Given the description of an element on the screen output the (x, y) to click on. 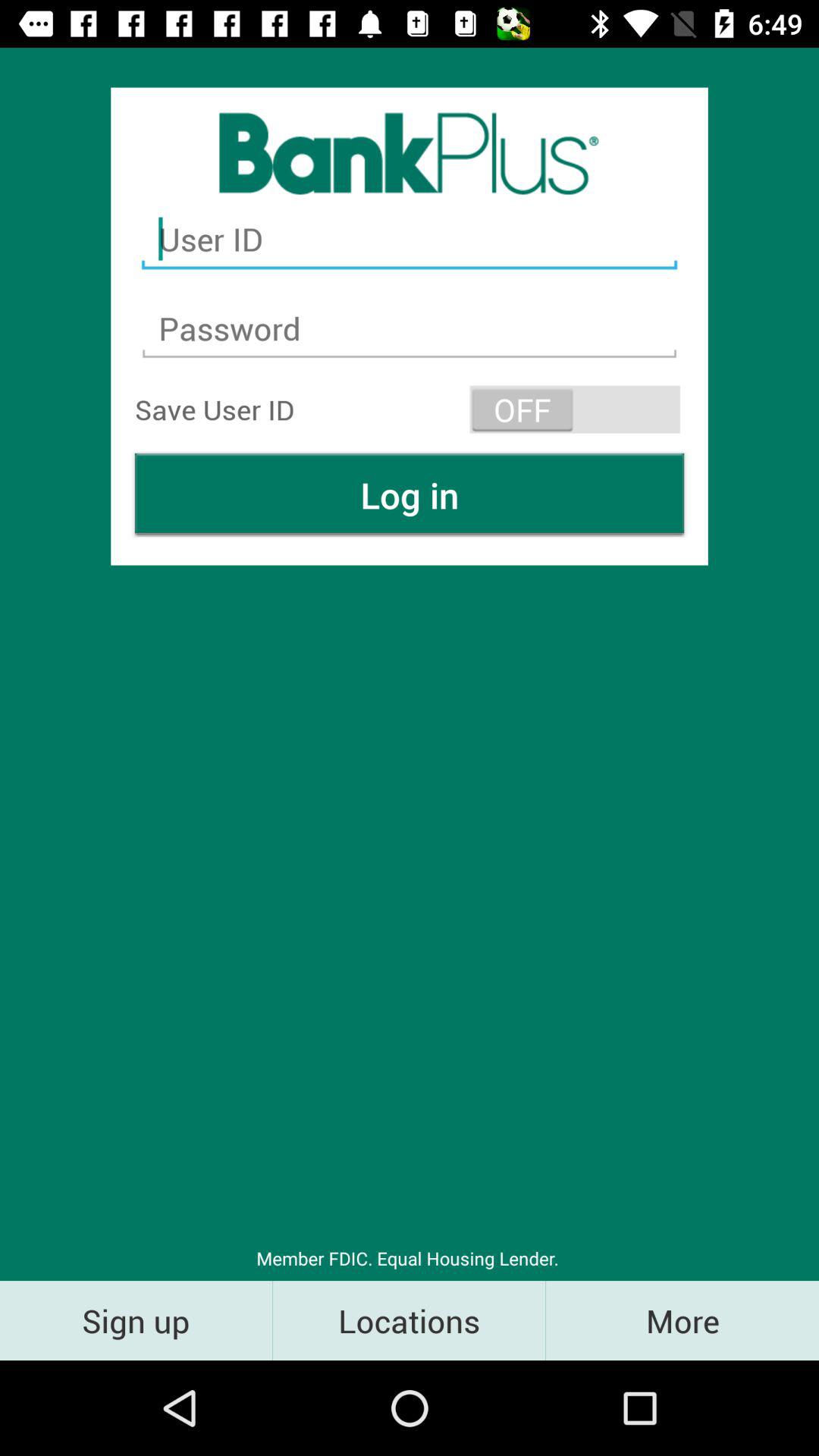
flip to the more (682, 1320)
